Given the description of an element on the screen output the (x, y) to click on. 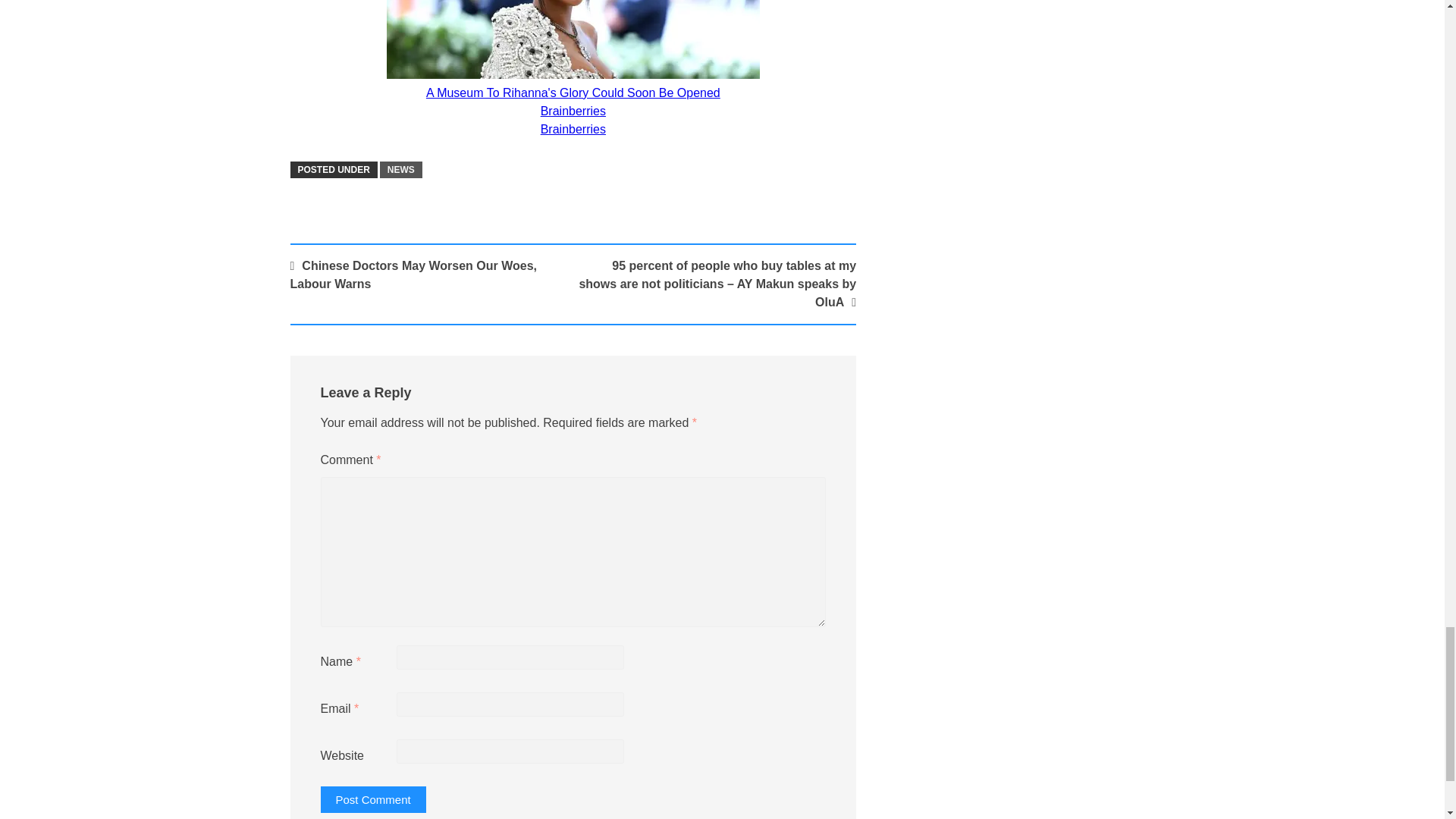
Post Comment (372, 799)
Chinese Doctors May Worsen Our Woes, Labour Warns (413, 274)
Post Comment (372, 799)
NEWS (401, 169)
